Given the description of an element on the screen output the (x, y) to click on. 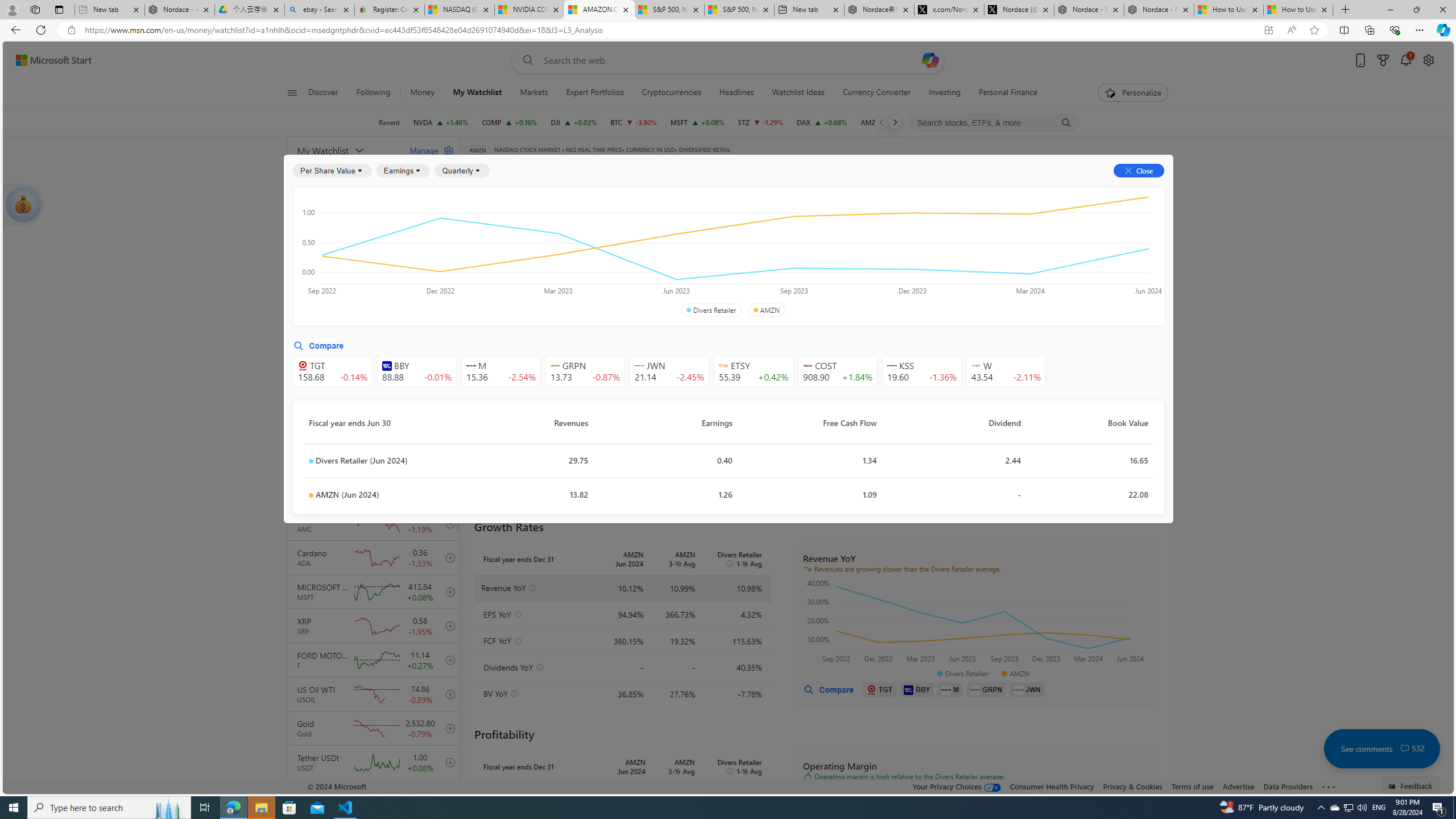
Class: oneFooter_seeMore-DS-EntryPoint1-1 (1328, 786)
Quarterly (461, 170)
Class: feedback_link_icon-DS-EntryPoint1-1 (1393, 786)
Watchlist Ideas (798, 92)
Profitability (662, 253)
COMP NASDAQ increase 17,754.82 +29.06 +0.16% (509, 122)
Summary (789, 188)
Terms of use (1192, 785)
